Given the description of an element on the screen output the (x, y) to click on. 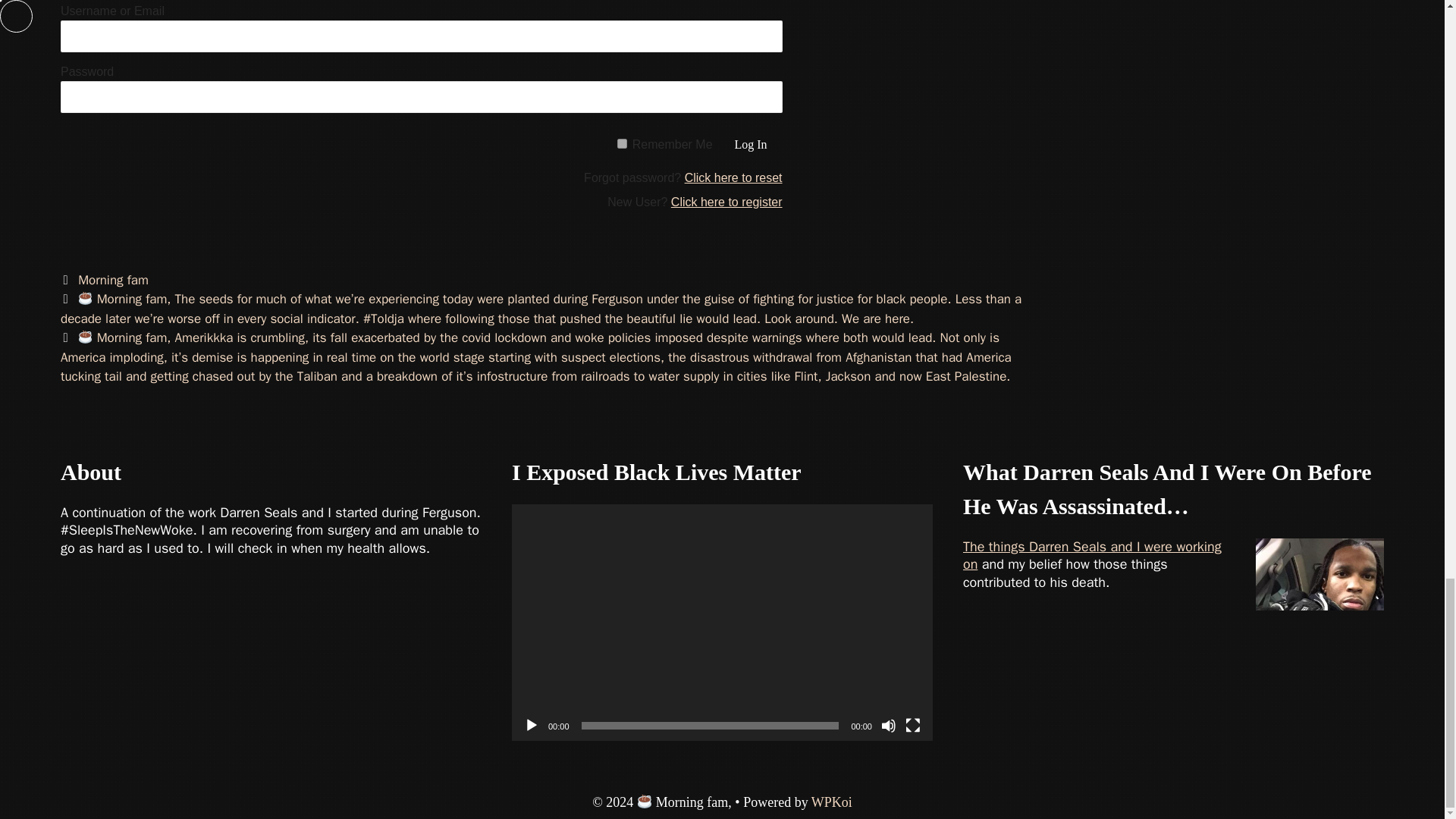
Fullscreen (912, 725)
Previous (541, 308)
Click here to register (727, 201)
Log In (750, 144)
The things Darren Seals and I were working on (1091, 555)
WPKoi (830, 801)
Play (531, 725)
Next (536, 357)
Click here to reset (733, 177)
forever (622, 143)
Mute (888, 725)
Morning fam (113, 279)
Log In (750, 144)
